Given the description of an element on the screen output the (x, y) to click on. 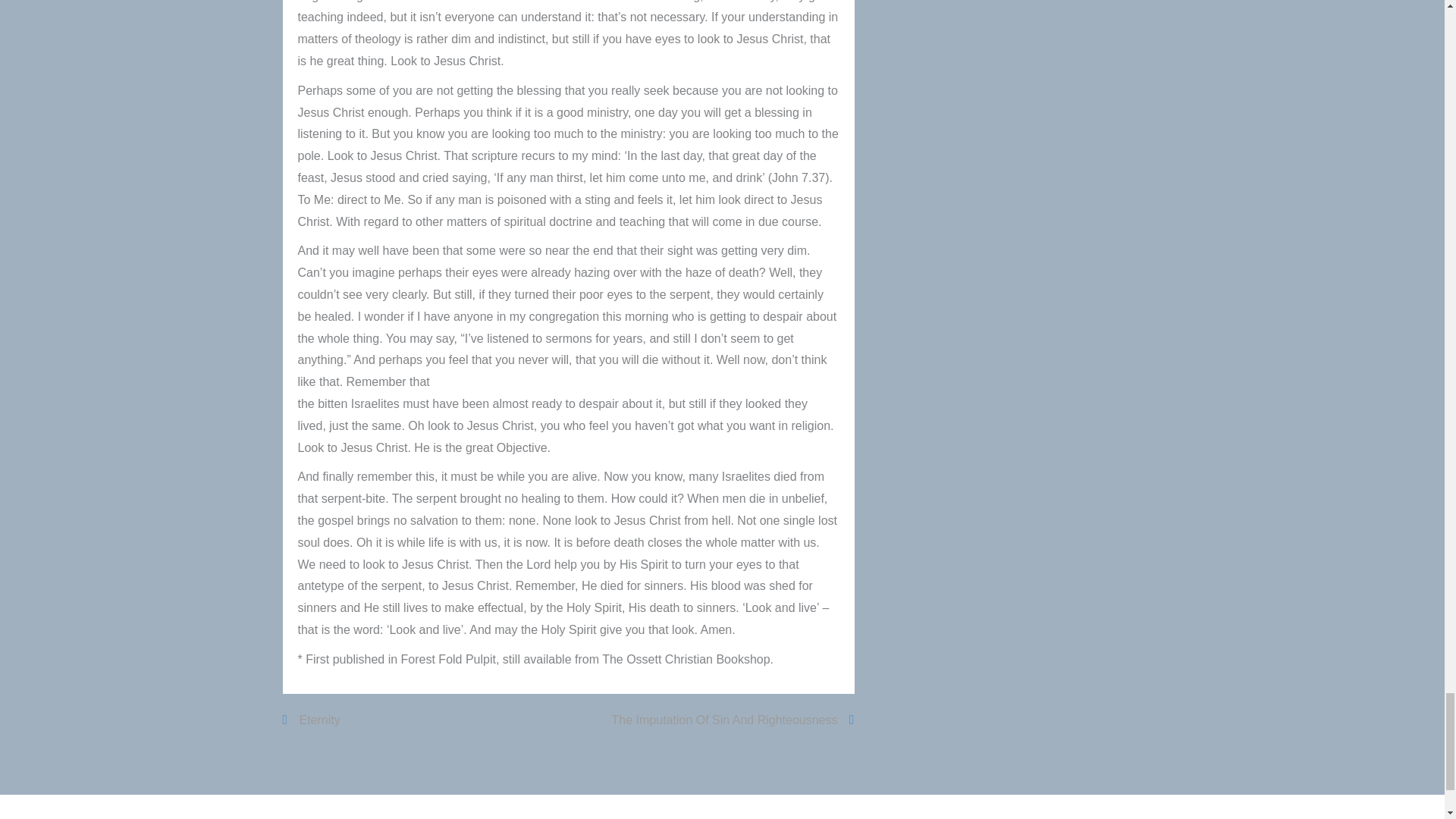
The Imputation Of Sin And Righteousness (732, 720)
Eternity (311, 720)
